Given the description of an element on the screen output the (x, y) to click on. 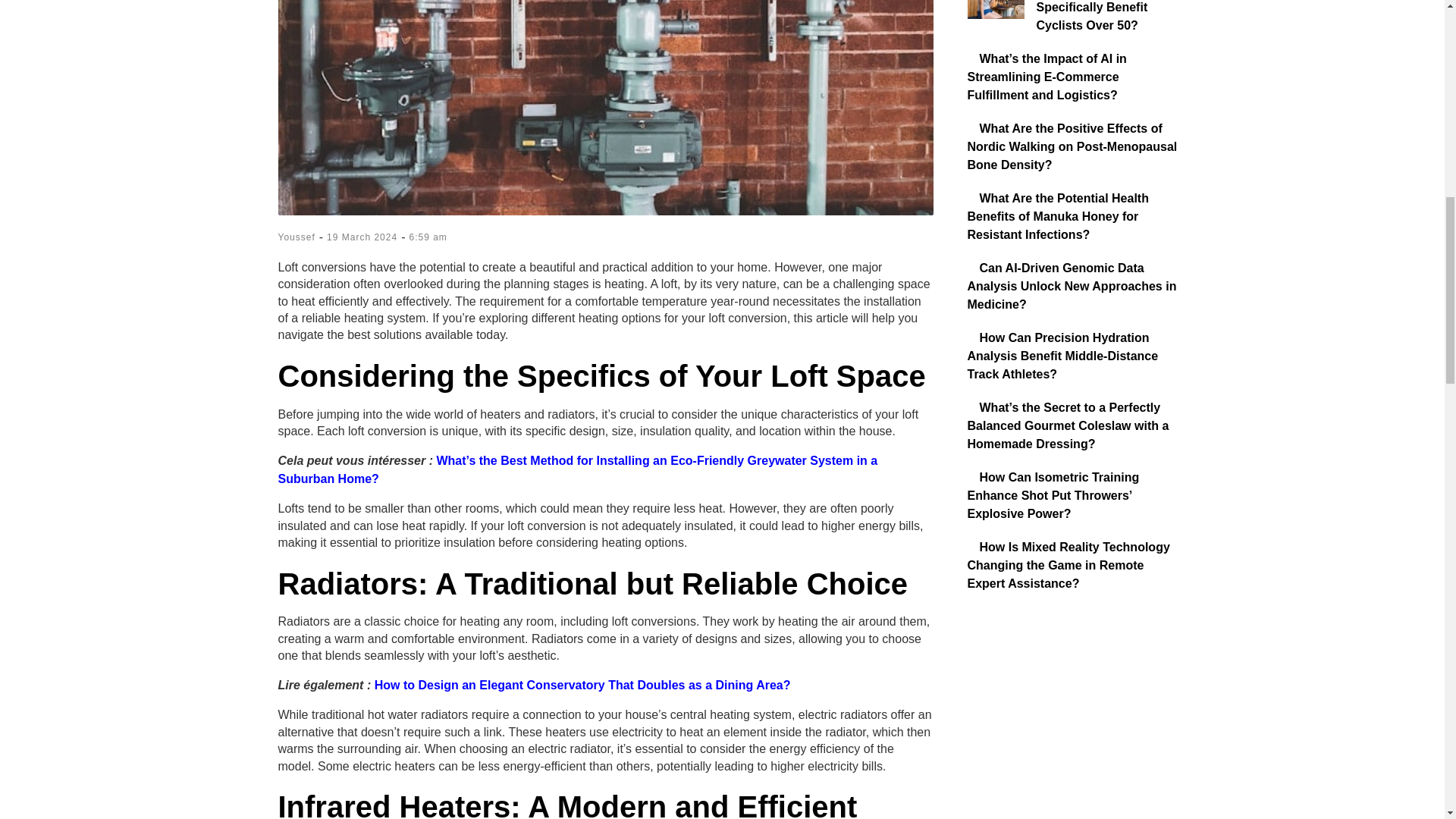
6:59 am (427, 237)
Youssef (296, 237)
19 March 2024 (361, 237)
